Given the description of an element on the screen output the (x, y) to click on. 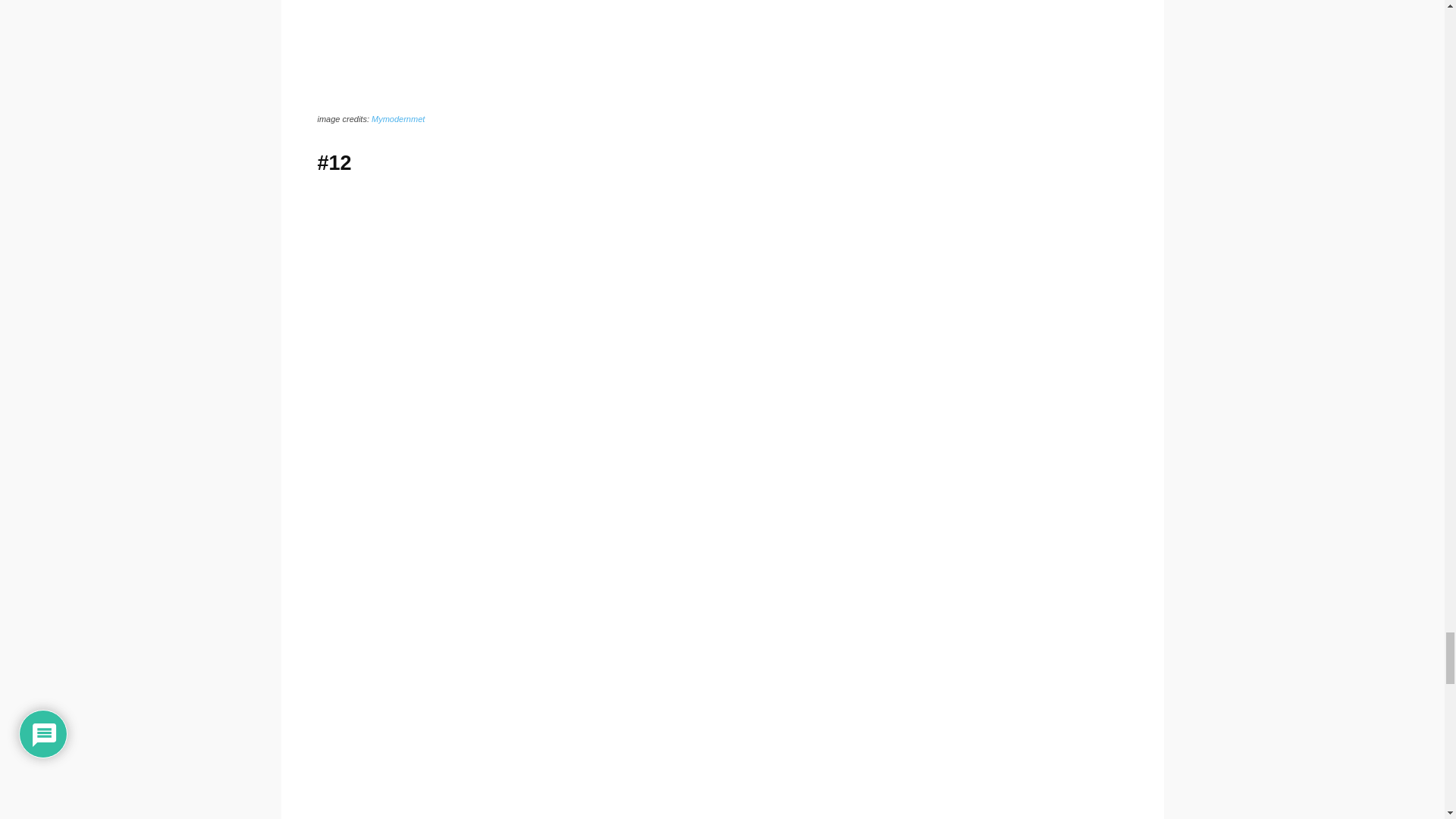
Mymodernmet (398, 118)
